Given the description of an element on the screen output the (x, y) to click on. 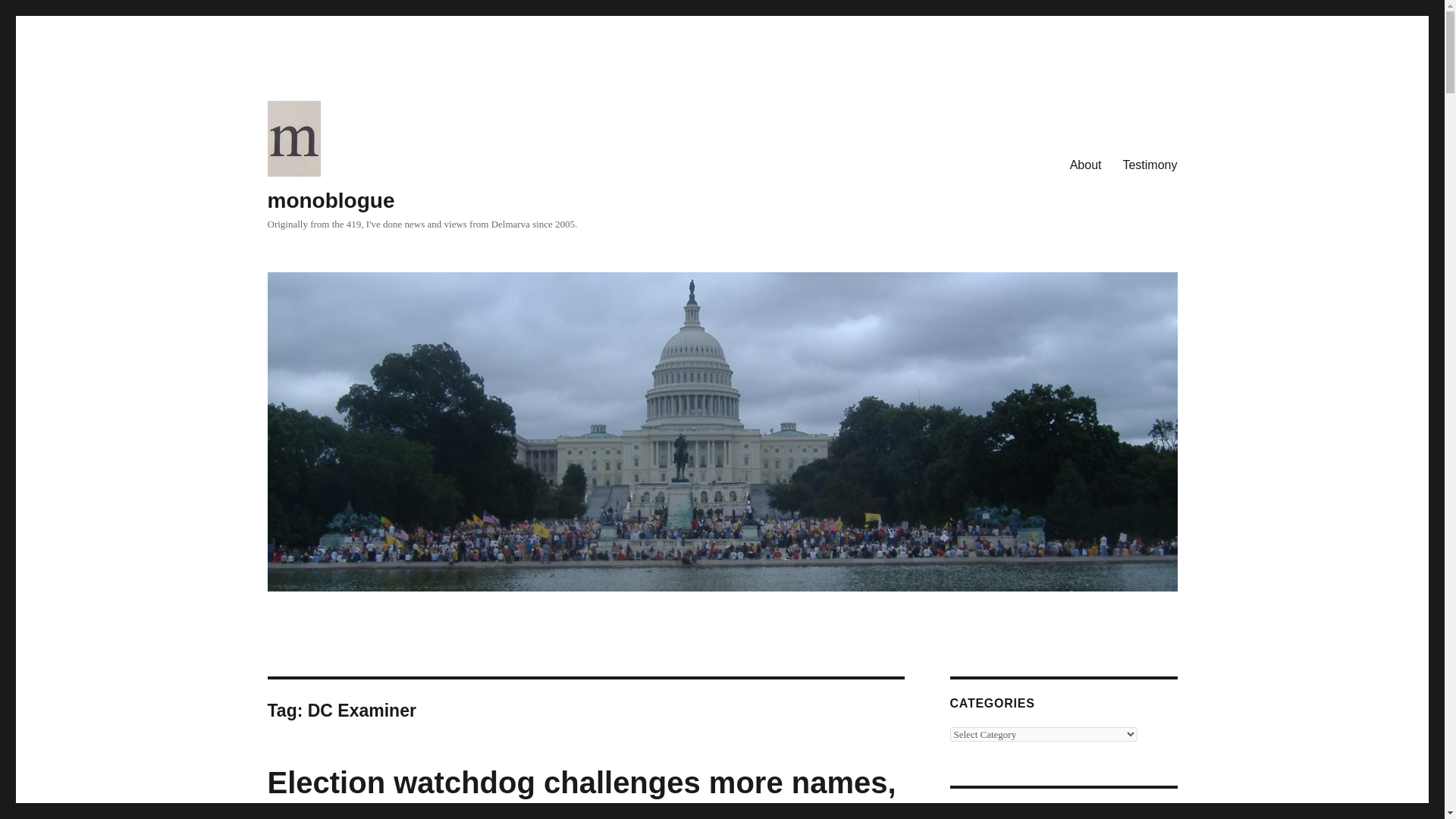
monoblogue (330, 200)
About (1085, 164)
Testimony (1150, 164)
